Given the description of an element on the screen output the (x, y) to click on. 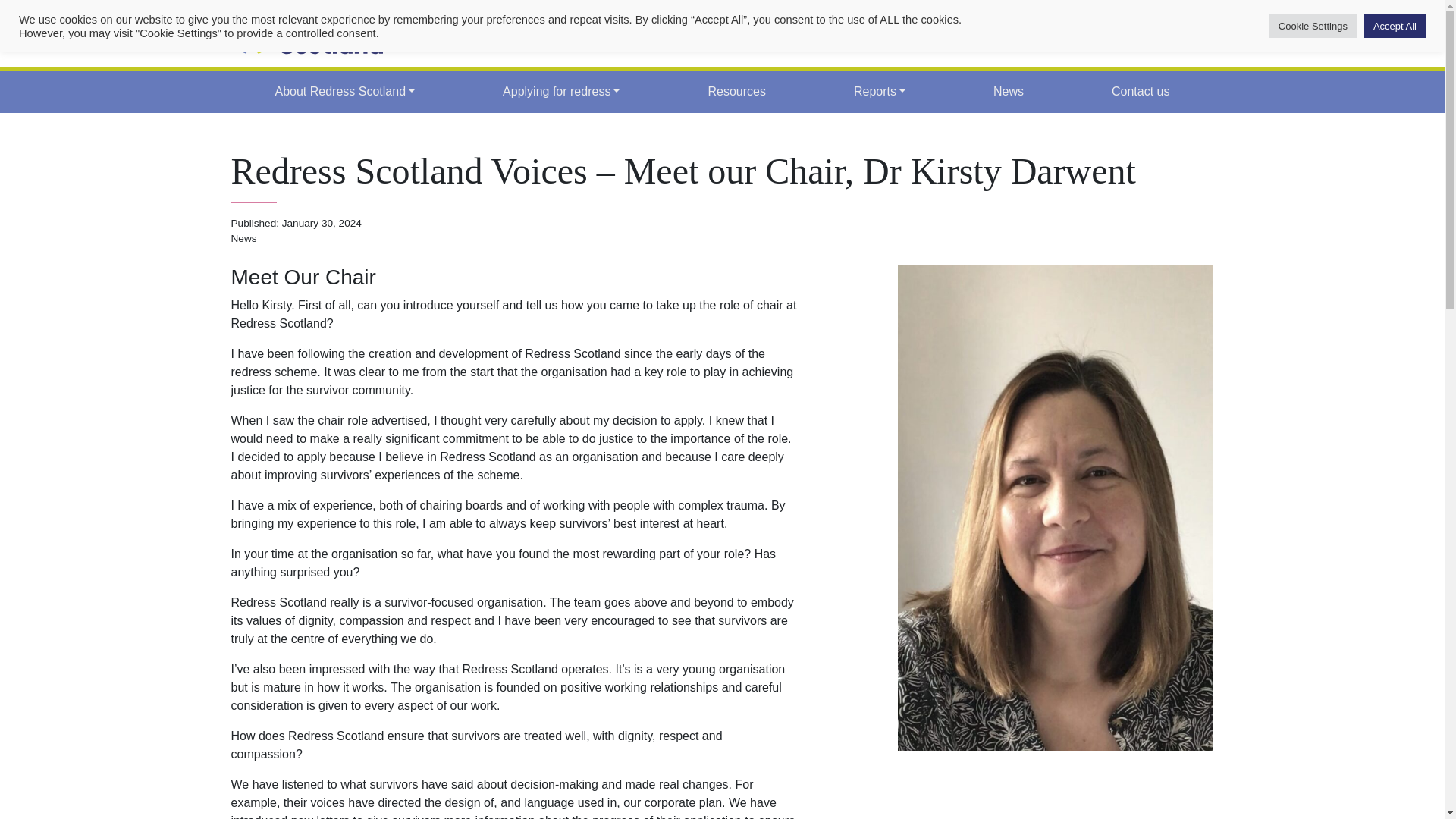
Resources (736, 91)
News (1008, 91)
Reports (879, 91)
Contact us (1139, 91)
Resources (736, 91)
Applying for redress (560, 91)
Reports (879, 91)
About Redress Scotland (344, 91)
Applying for redress (560, 91)
About Redress Scotland (344, 91)
News (1008, 91)
Cookie Settings (1312, 25)
Accept All (1394, 25)
Contact us (1139, 91)
